Given the description of an element on the screen output the (x, y) to click on. 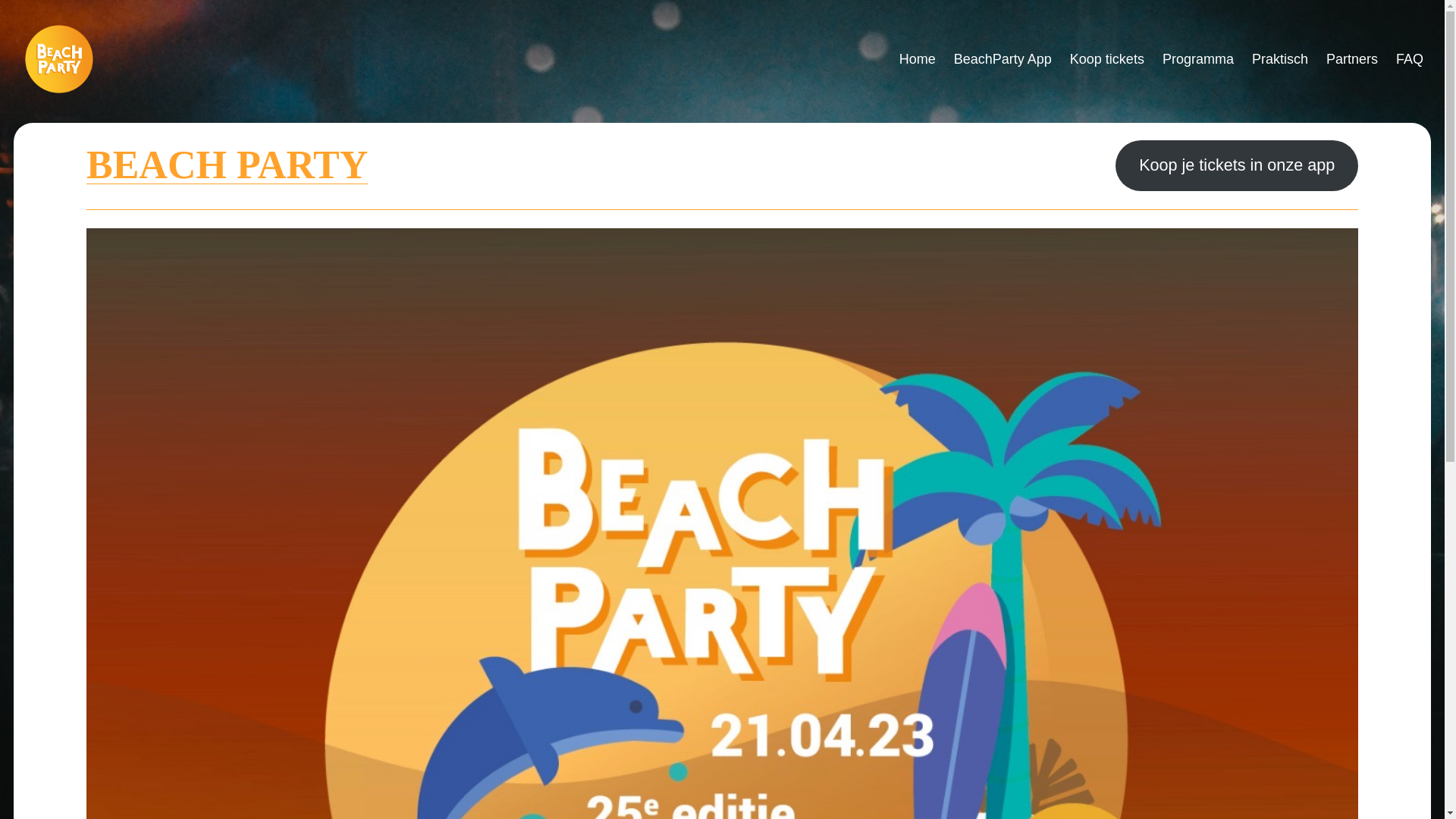
Koop je tickets in onze app Element type: text (1236, 164)
Partners Element type: text (1351, 59)
Praktisch Element type: text (1280, 59)
BeachParty App Element type: text (1002, 59)
FAQ Element type: text (1409, 59)
Programma Element type: text (1197, 59)
Home Element type: text (917, 59)
Koop tickets Element type: text (1107, 59)
BEACH PARTY Element type: text (226, 165)
